Given the description of an element on the screen output the (x, y) to click on. 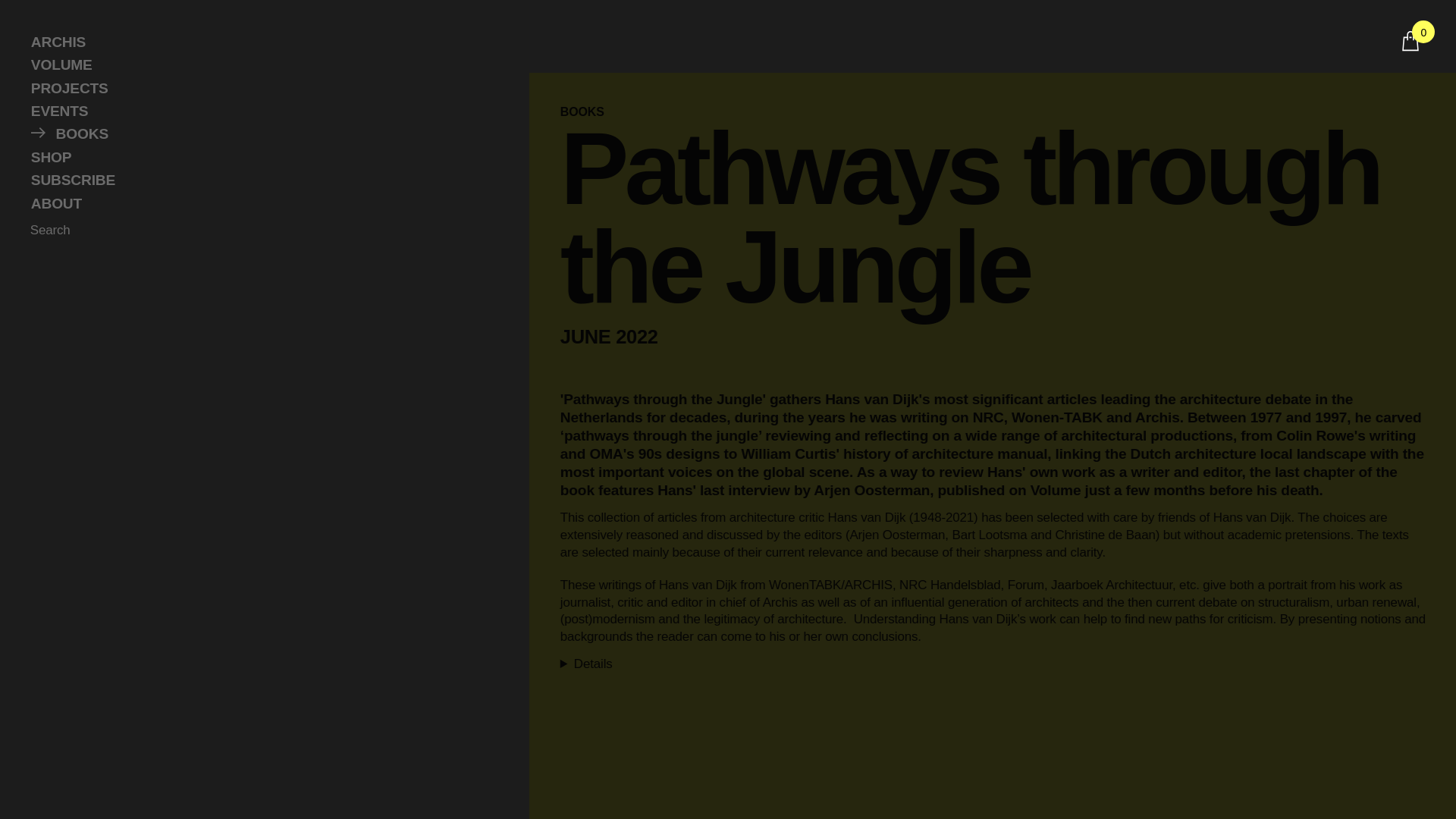
PROJECTS (258, 88)
ARCHIS (258, 42)
BOOKS (258, 134)
BOOKS (1008, 112)
VOLUME (258, 65)
SHOP (258, 157)
SUBSCRIBE (258, 180)
EVENTS (258, 111)
Search (52, 231)
ABOUT (258, 203)
